Given the description of an element on the screen output the (x, y) to click on. 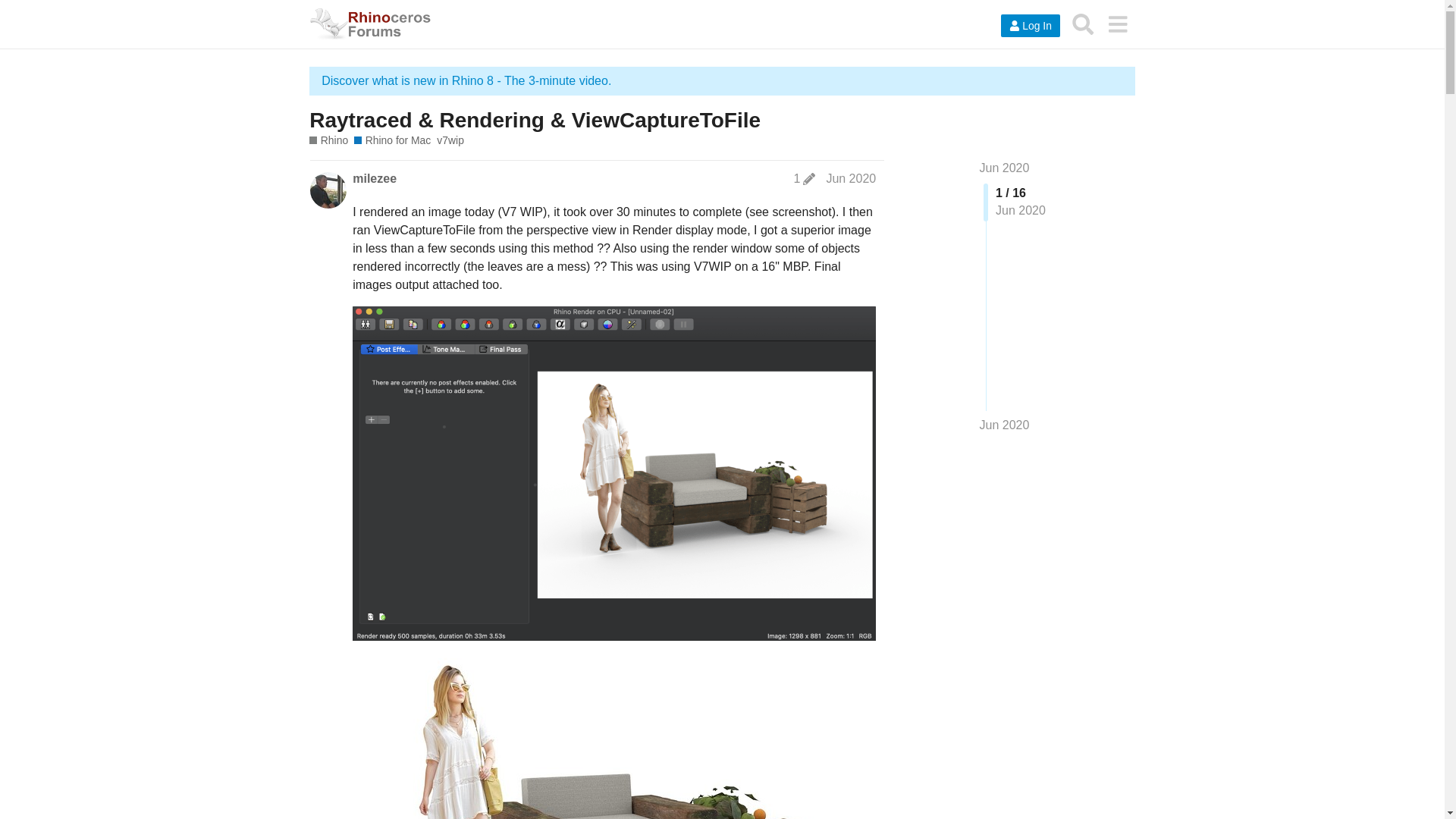
menu (1117, 23)
Topics related to Rhino for Mac (391, 140)
Post date (850, 178)
Search (1082, 23)
Ask questions related to Rhino in this category. (327, 140)
Jun 2020 (1004, 425)
Jun 2020 (850, 178)
Log In (1030, 25)
v7wip (450, 140)
Rhino (327, 140)
post last edited on Jan 18, 2023 12:51 pm (804, 178)
Jump to the last post (1004, 424)
Jump to the first post (1004, 167)
Rhino for Mac (391, 140)
